Given the description of an element on the screen output the (x, y) to click on. 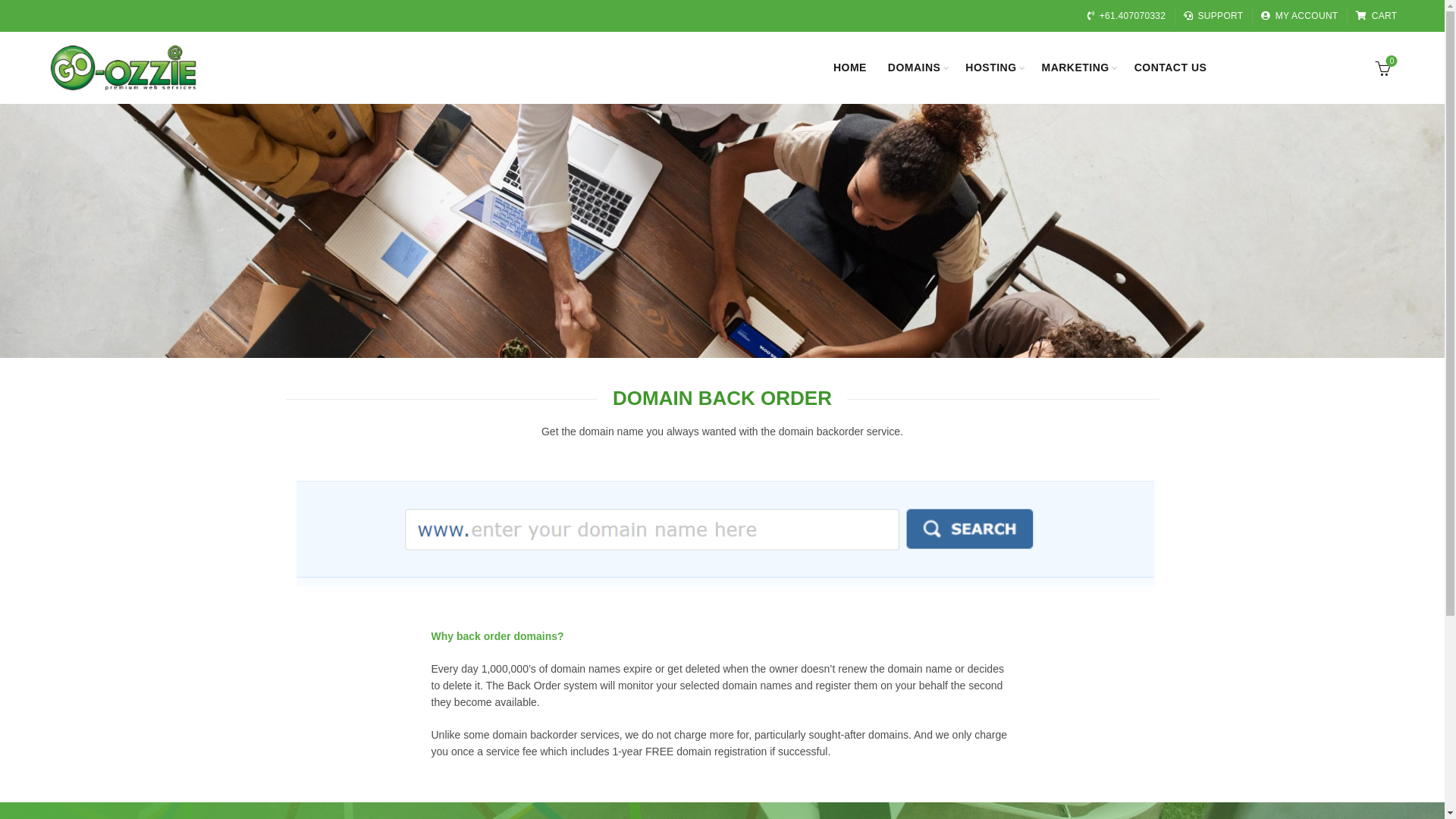
HOSTING Element type: text (990, 67)
CONTACT US Element type: text (1170, 67)
MY ACCOUNT Element type: text (1298, 15)
SUPPORT Element type: text (1212, 15)
CART Element type: text (1375, 15)
HOME Element type: text (849, 67)
+61.407070332 Element type: text (1125, 15)
0 Element type: text (1383, 67)
DOMAINS Element type: text (914, 67)
MARKETING Element type: text (1074, 67)
